Given the description of an element on the screen output the (x, y) to click on. 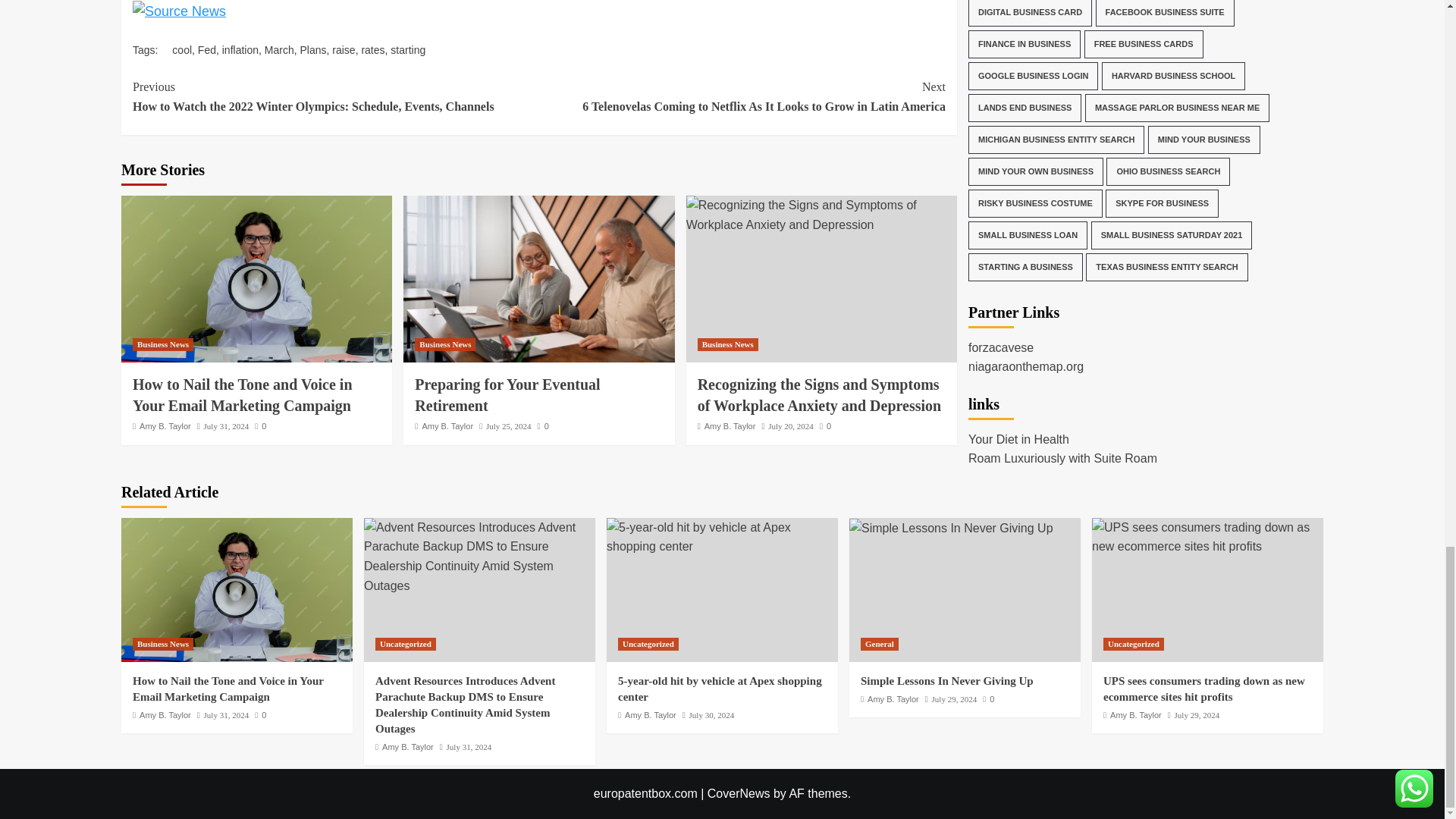
Tags: (151, 50)
rates (372, 50)
raise (343, 50)
inflation (240, 50)
Business News (162, 344)
July 31, 2024 (225, 425)
March (279, 50)
Amy B. Taylor (164, 425)
cool (181, 50)
